Given the description of an element on the screen output the (x, y) to click on. 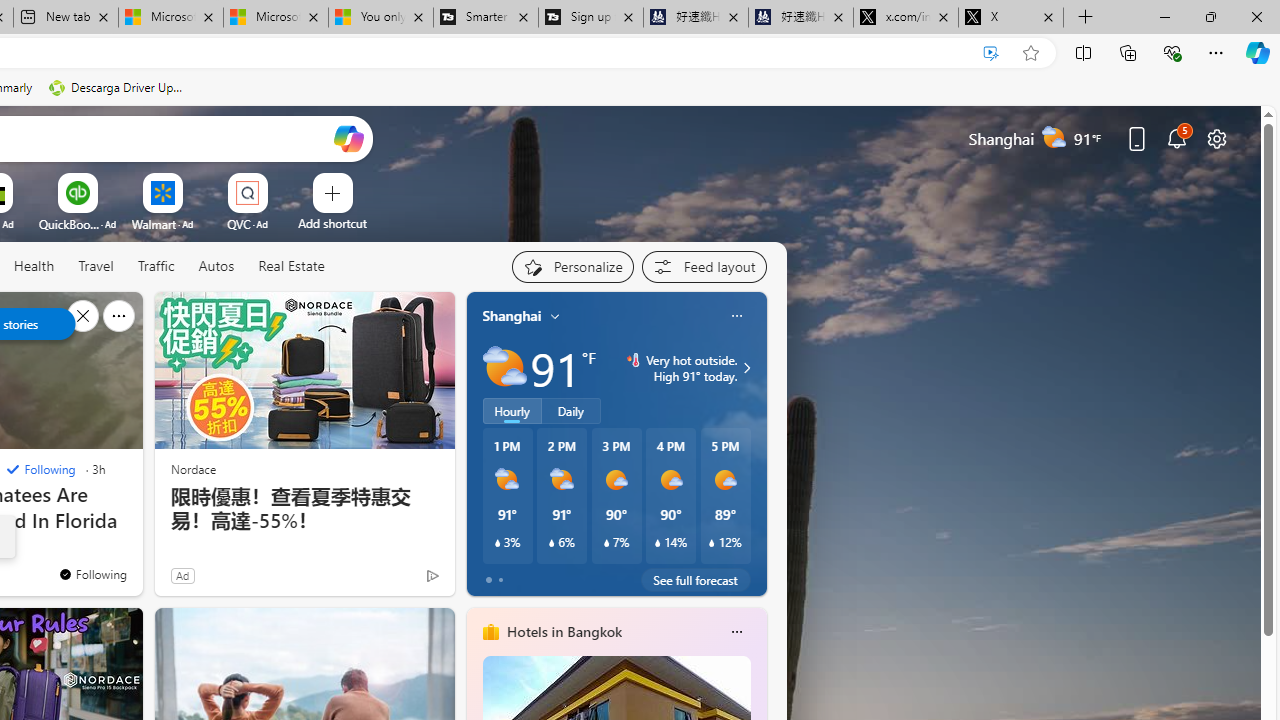
Class: weather-current-precipitation-glyph (712, 543)
Traffic (155, 265)
Enhance video (991, 53)
Notifications (1176, 138)
Real Estate (290, 267)
